Given the description of an element on the screen output the (x, y) to click on. 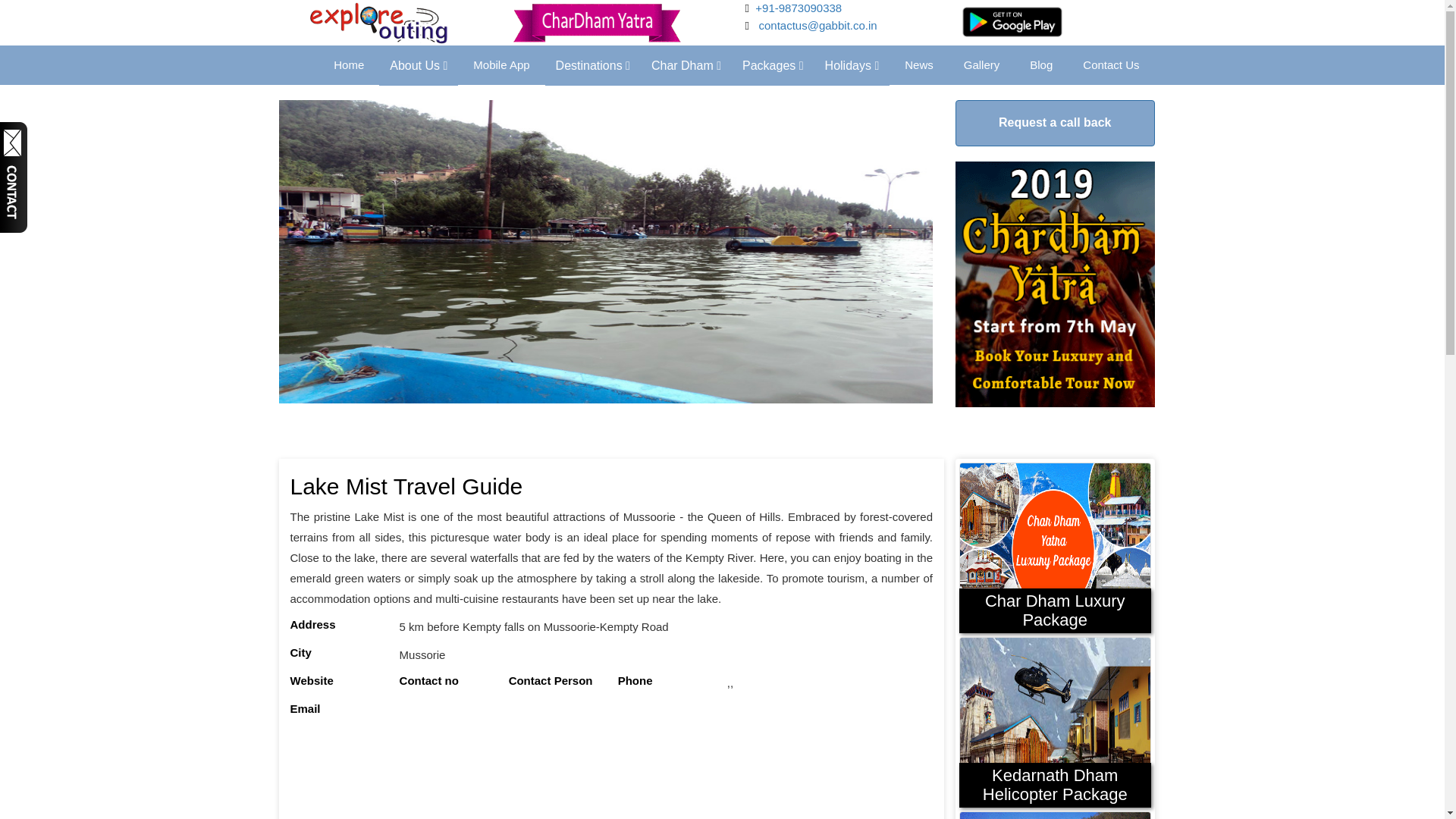
Packages (772, 65)
Home (348, 64)
Char Dham (686, 65)
Mobile App (501, 64)
Holidays (850, 65)
About Us (418, 65)
Destinations (592, 65)
Packages (770, 65)
News (919, 64)
Holidays (851, 65)
